Given the description of an element on the screen output the (x, y) to click on. 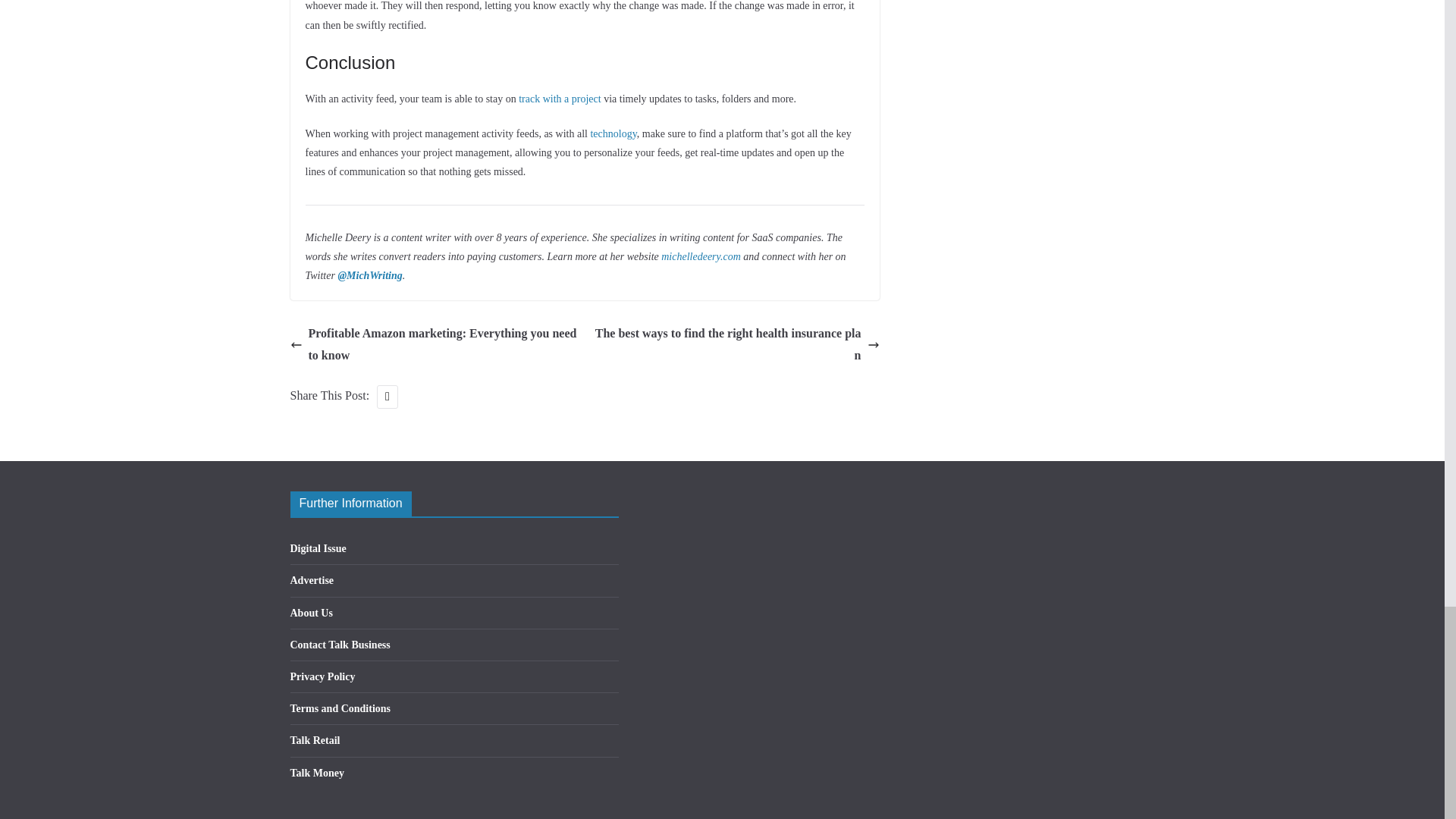
technology (612, 133)
michelledeery.com (701, 256)
track with a project (558, 98)
Profitable Amazon marketing: Everything you need to know (432, 344)
The best ways to find the right health insurance plan (735, 344)
